Given the description of an element on the screen output the (x, y) to click on. 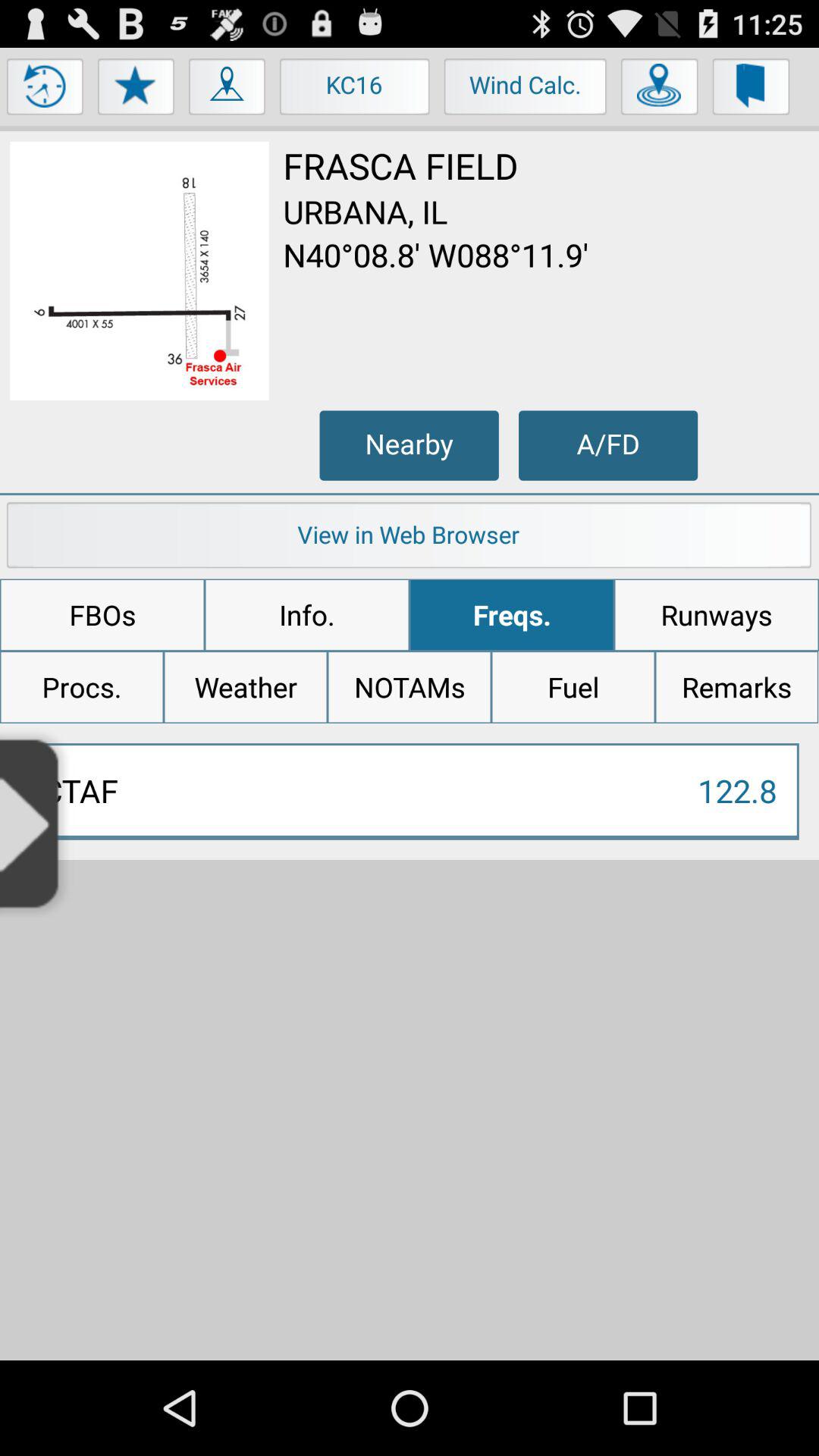
play radio (36, 822)
